Given the description of an element on the screen output the (x, y) to click on. 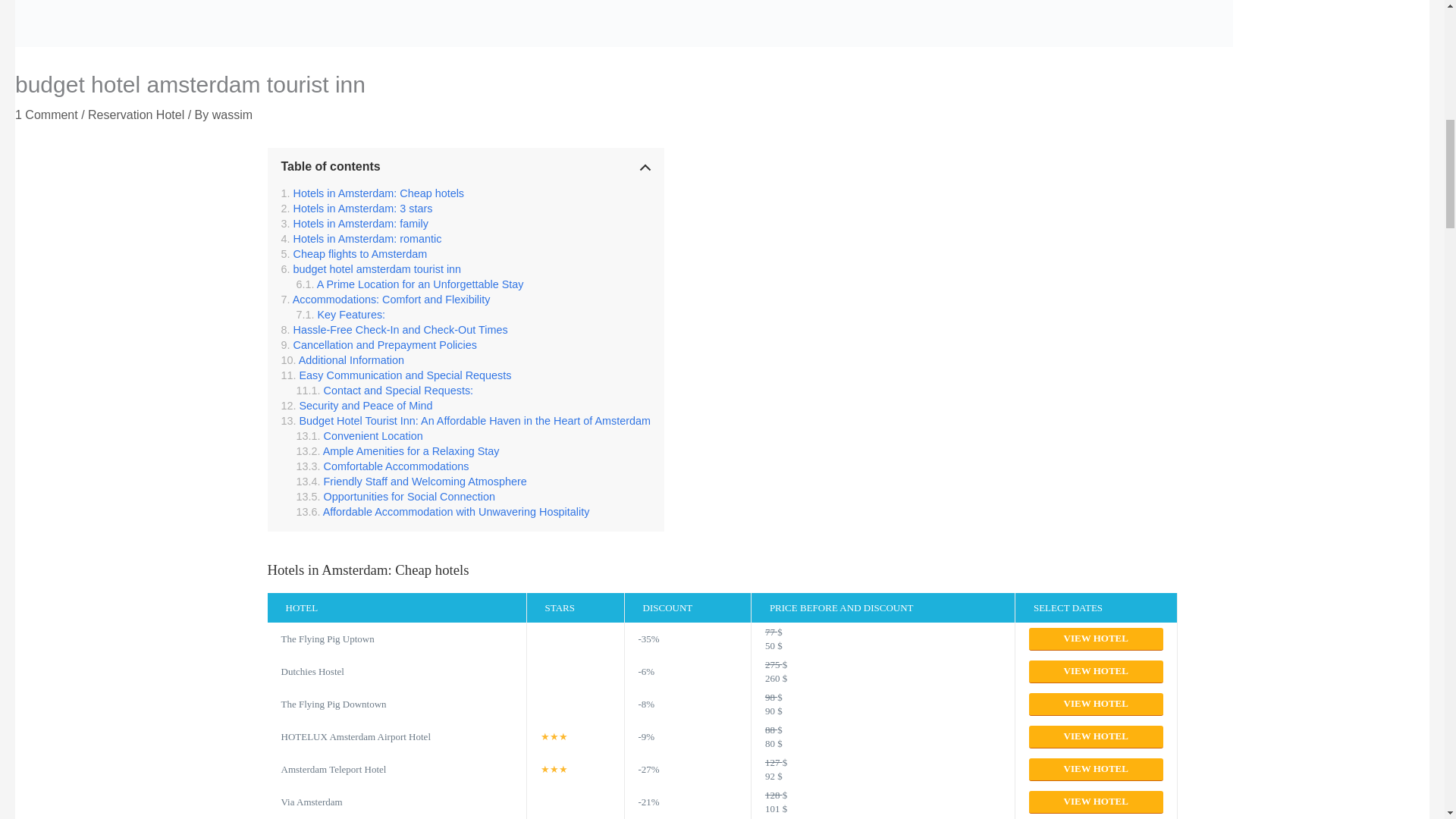
Reservation Hotel (135, 114)
Cheap flights to Amsterdam (353, 254)
VIEW HOTEL (1096, 639)
Friendly Staff and Welcoming Atmosphere (410, 481)
Comfortable Accommodations (381, 466)
Hotels in Amsterdam: Cheap hotels (372, 193)
Opportunities for Social Connection (395, 496)
Cancellation and Prepayment Policies (378, 345)
Hotels in Amsterdam: romantic (361, 238)
Additional Information (342, 359)
A Prime Location for an Unforgettable Stay (408, 284)
budget hotel amsterdam tourist inn (371, 268)
Ample Amenities for a Relaxing Stay (397, 451)
Accommodations: Comfort and Flexibility (385, 299)
Hotels in Amsterdam: family (354, 223)
